Given the description of an element on the screen output the (x, y) to click on. 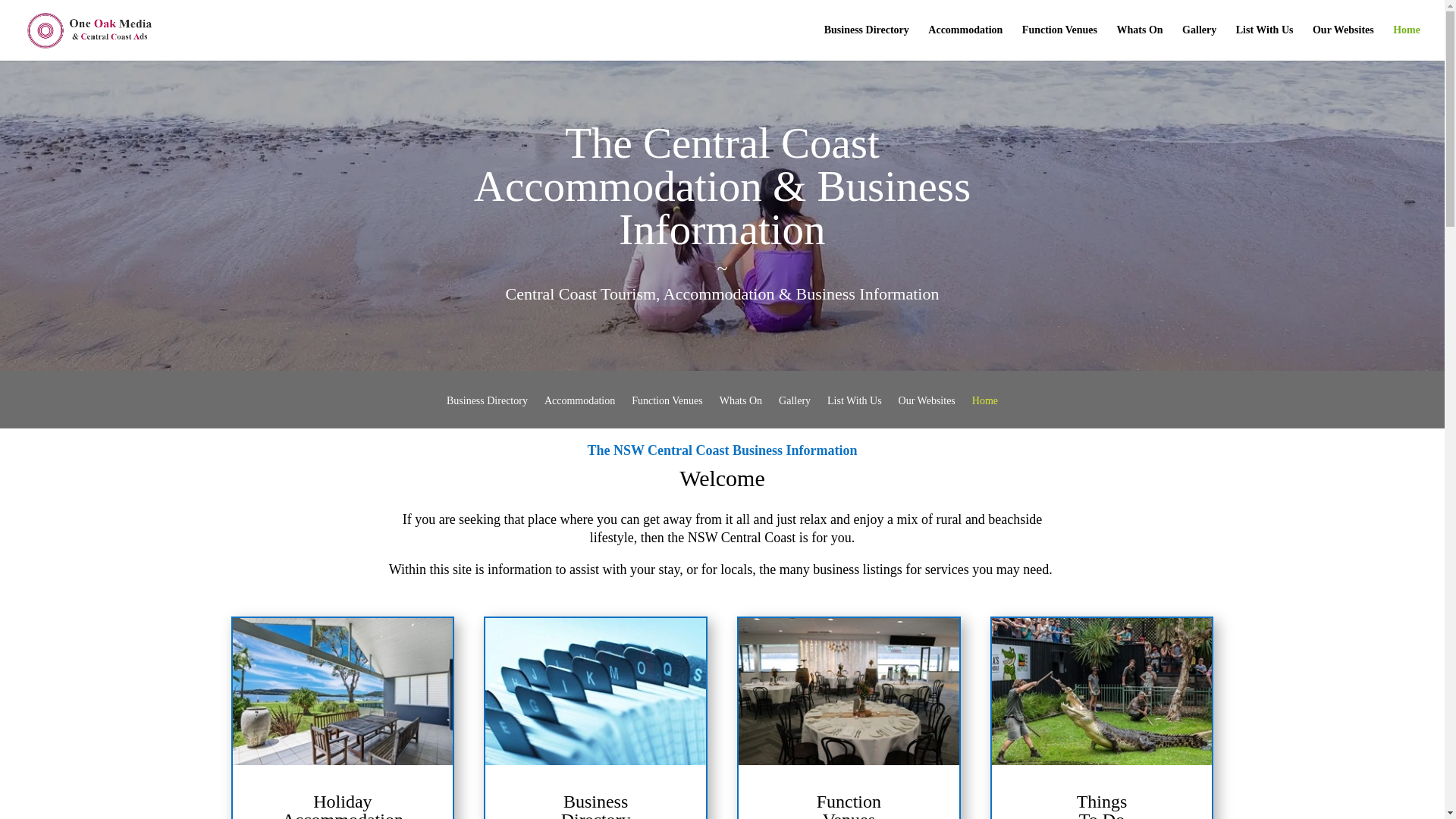
Whats On (1139, 42)
List With Us (854, 411)
Central Coast Business Listings (595, 691)
Function Venues (666, 411)
Gallery (1198, 42)
Whats On (740, 411)
Business Directory (866, 42)
List With Us (1265, 42)
Our Websites (926, 411)
Gallery (794, 411)
Central Coast Accommodation (341, 691)
Central Coast Whats On (1101, 691)
Business Directory (486, 411)
Accommodation (965, 42)
Function Venues (1059, 42)
